Given the description of an element on the screen output the (x, y) to click on. 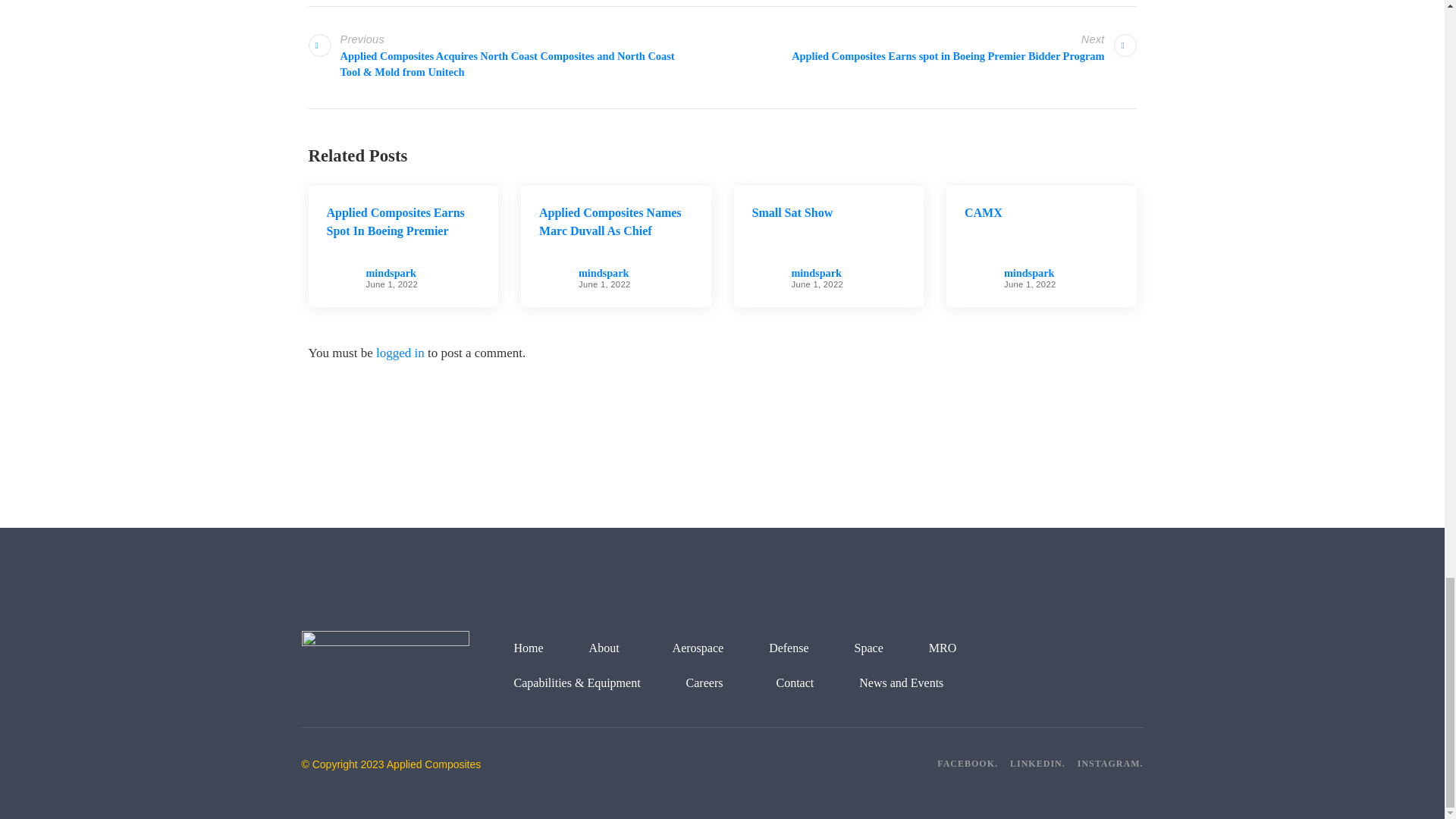
Posts by mindspark (603, 272)
Posts by mindspark (389, 272)
mindspark (389, 272)
Posts by mindspark (816, 272)
Posts by mindspark (1029, 272)
